Given the description of an element on the screen output the (x, y) to click on. 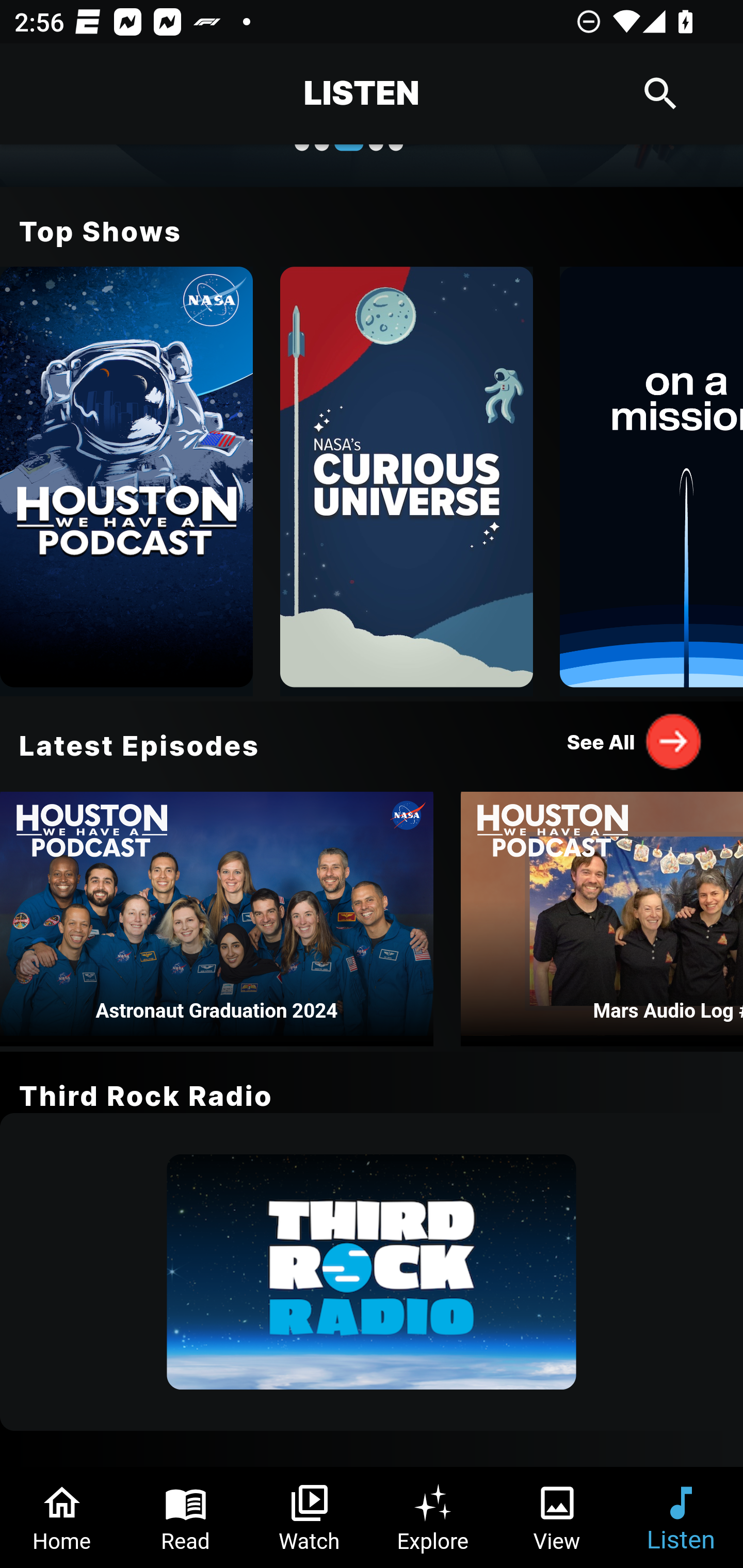
See All (634, 740)
Astronaut Graduation 2024 (216, 912)
Mars Audio Log #7 (601, 912)
Home
Tab 1 of 6 (62, 1517)
Read
Tab 2 of 6 (185, 1517)
Watch
Tab 3 of 6 (309, 1517)
Explore
Tab 4 of 6 (433, 1517)
View
Tab 5 of 6 (556, 1517)
Listen
Tab 6 of 6 (680, 1517)
